Given the description of an element on the screen output the (x, y) to click on. 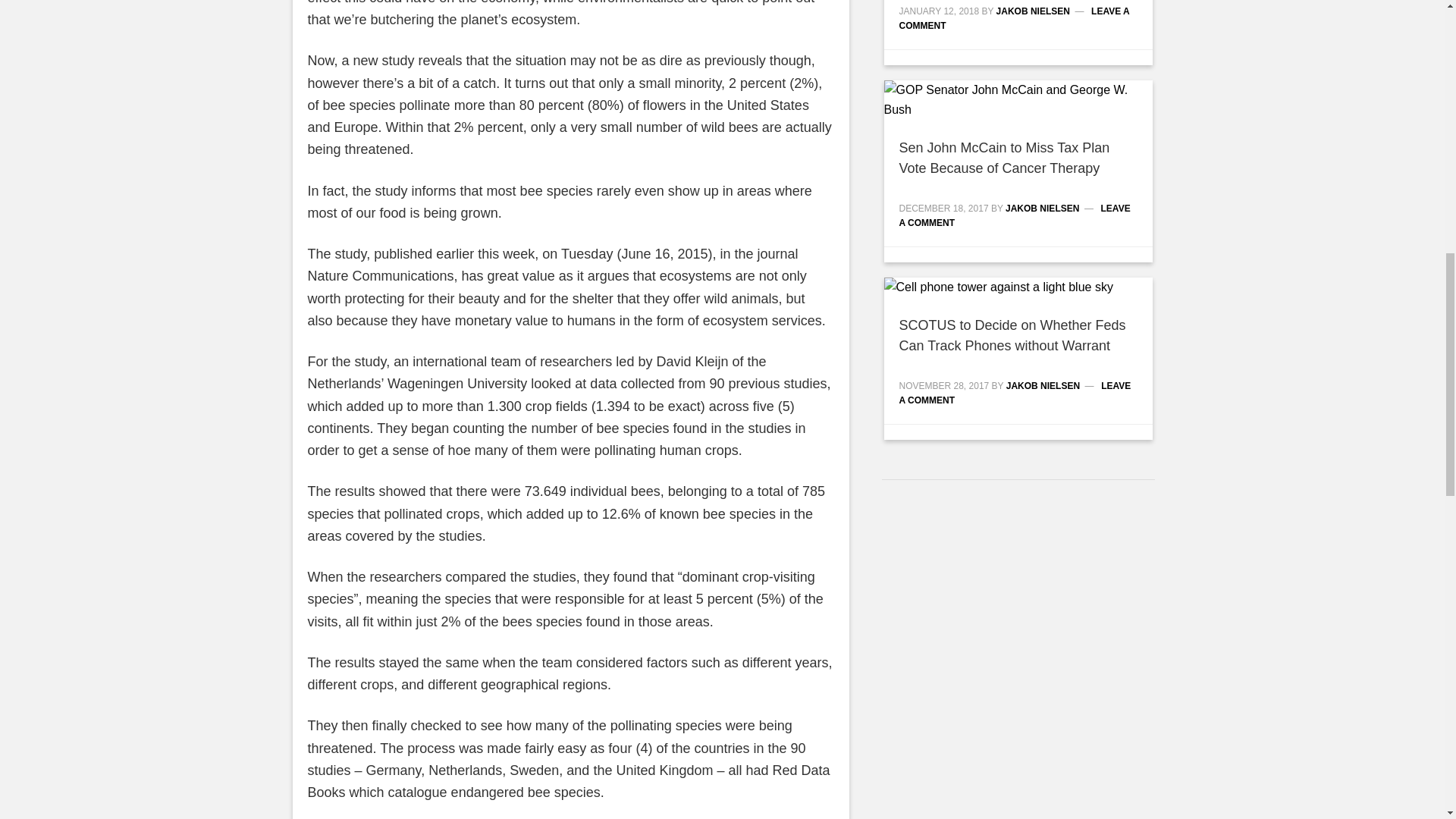
LEAVE A COMMENT (1015, 216)
JAKOB NIELSEN (1042, 208)
LEAVE A COMMENT (1014, 18)
JAKOB NIELSEN (1032, 10)
